Given the description of an element on the screen output the (x, y) to click on. 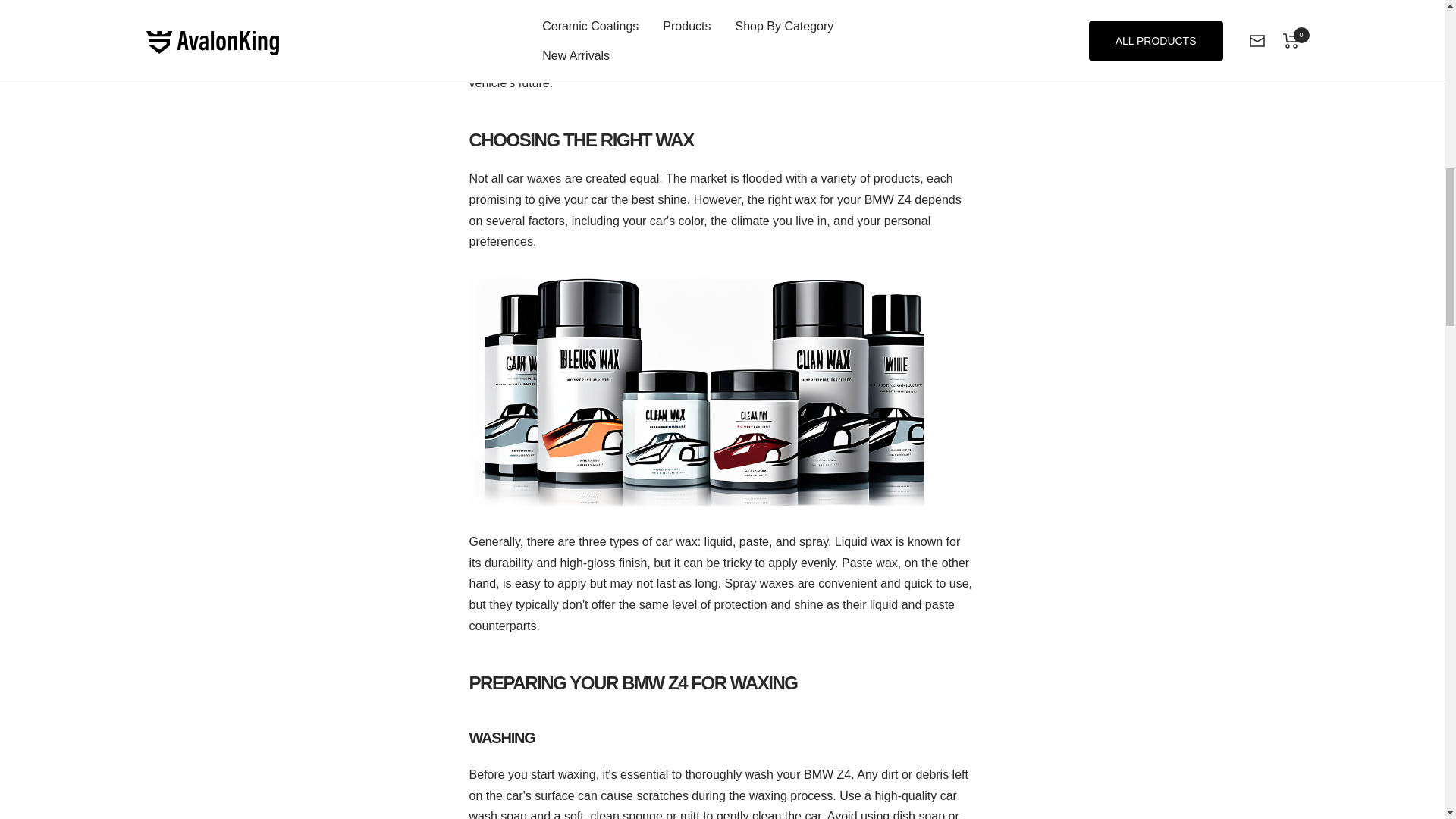
liquid, paste, and spray (766, 541)
shiny, scratch-free exterior (718, 30)
